Given the description of an element on the screen output the (x, y) to click on. 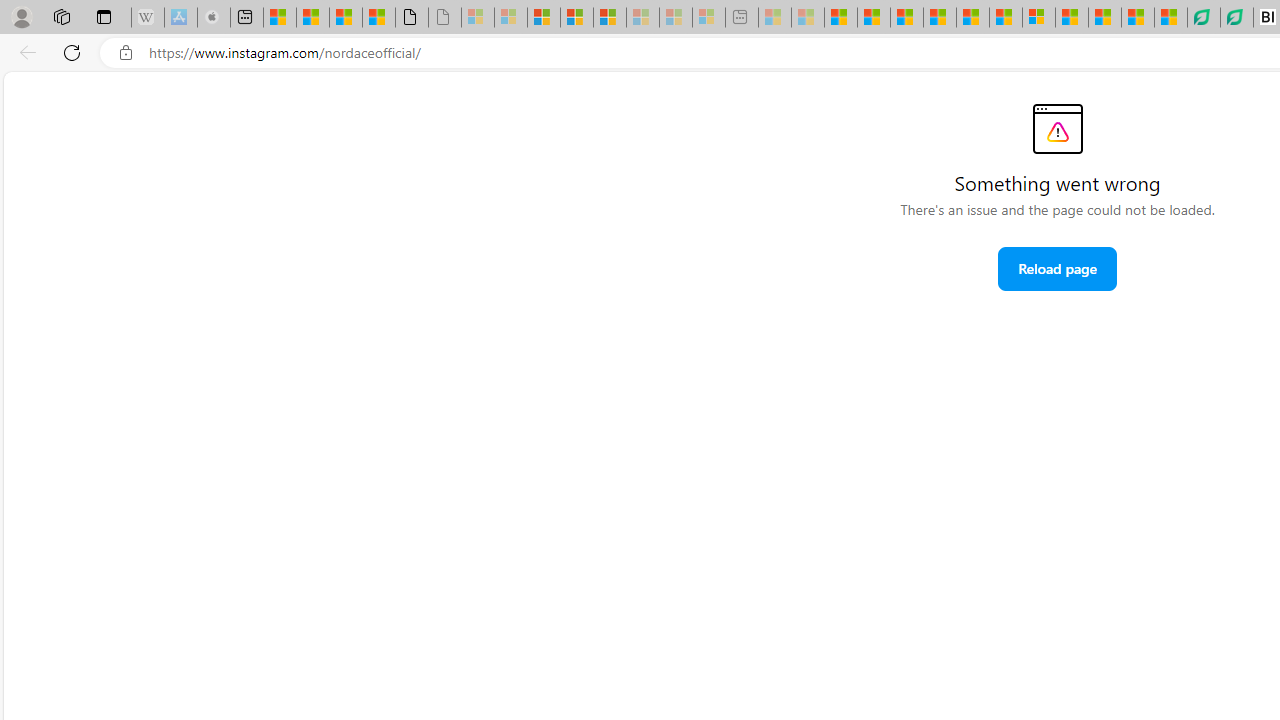
Error (1056, 128)
Wikipedia - Sleeping (147, 17)
US Heat Deaths Soared To Record High Last Year (1071, 17)
Reload page (1057, 268)
Sign in to your Microsoft account - Sleeping (478, 17)
Buy iPad - Apple - Sleeping (214, 17)
Aberdeen, Hong Kong SAR weather forecast | Microsoft Weather (312, 17)
Microsoft Services Agreement - Sleeping (511, 17)
Drinking tea every day is proven to delay biological aging (940, 17)
